Given the description of an element on the screen output the (x, y) to click on. 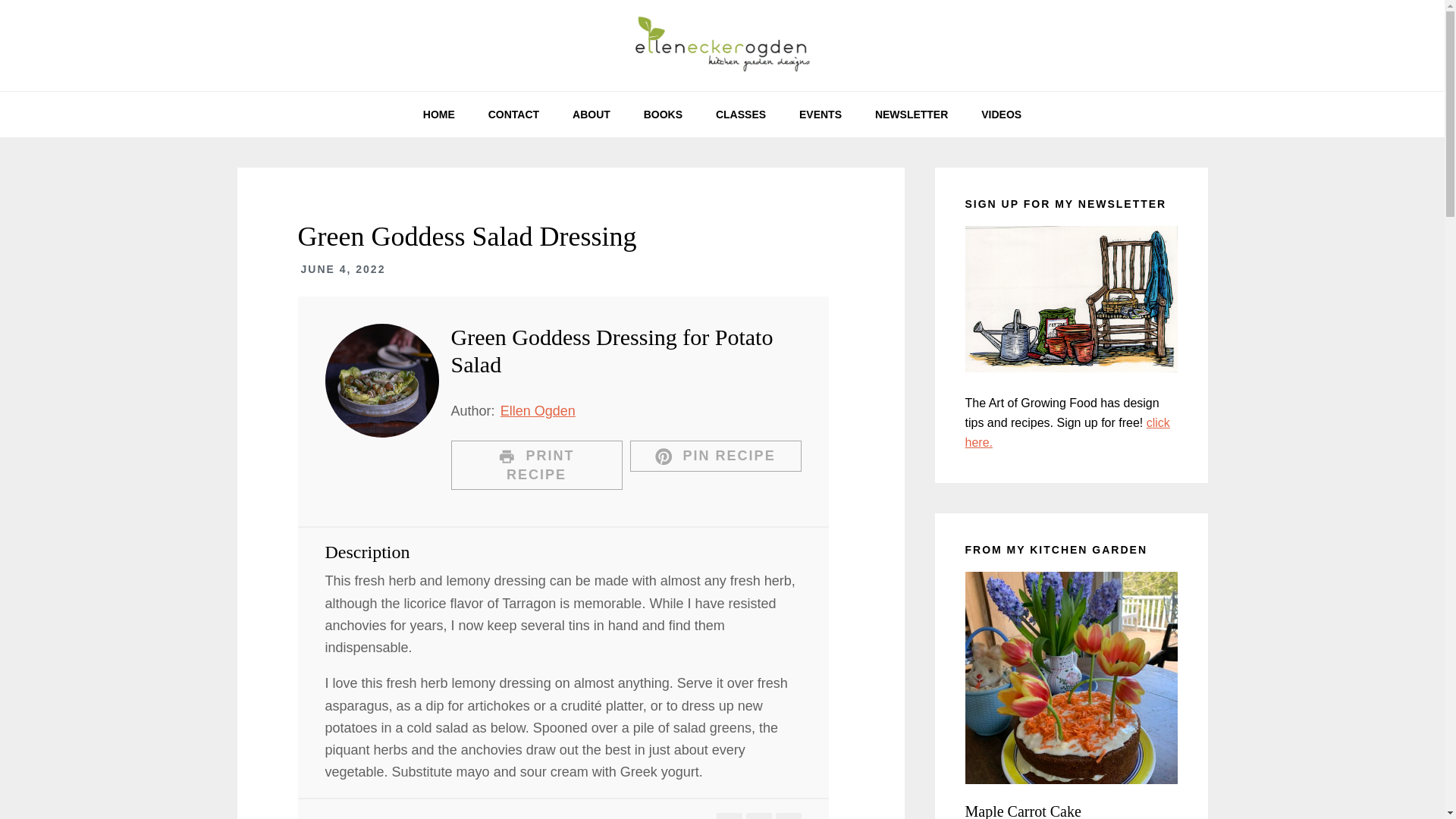
CONTACT (513, 114)
VIDEOS (1001, 114)
Ellen Ecker Ogden (721, 45)
1X (728, 816)
CLASSES (740, 114)
3X (787, 816)
Ellen Ogden (537, 410)
HOME (438, 114)
EVENTS (820, 114)
PIN RECIPE (714, 455)
ABOUT (591, 114)
2X (758, 816)
PRINT RECIPE (535, 465)
BOOKS (662, 114)
